Given the description of an element on the screen output the (x, y) to click on. 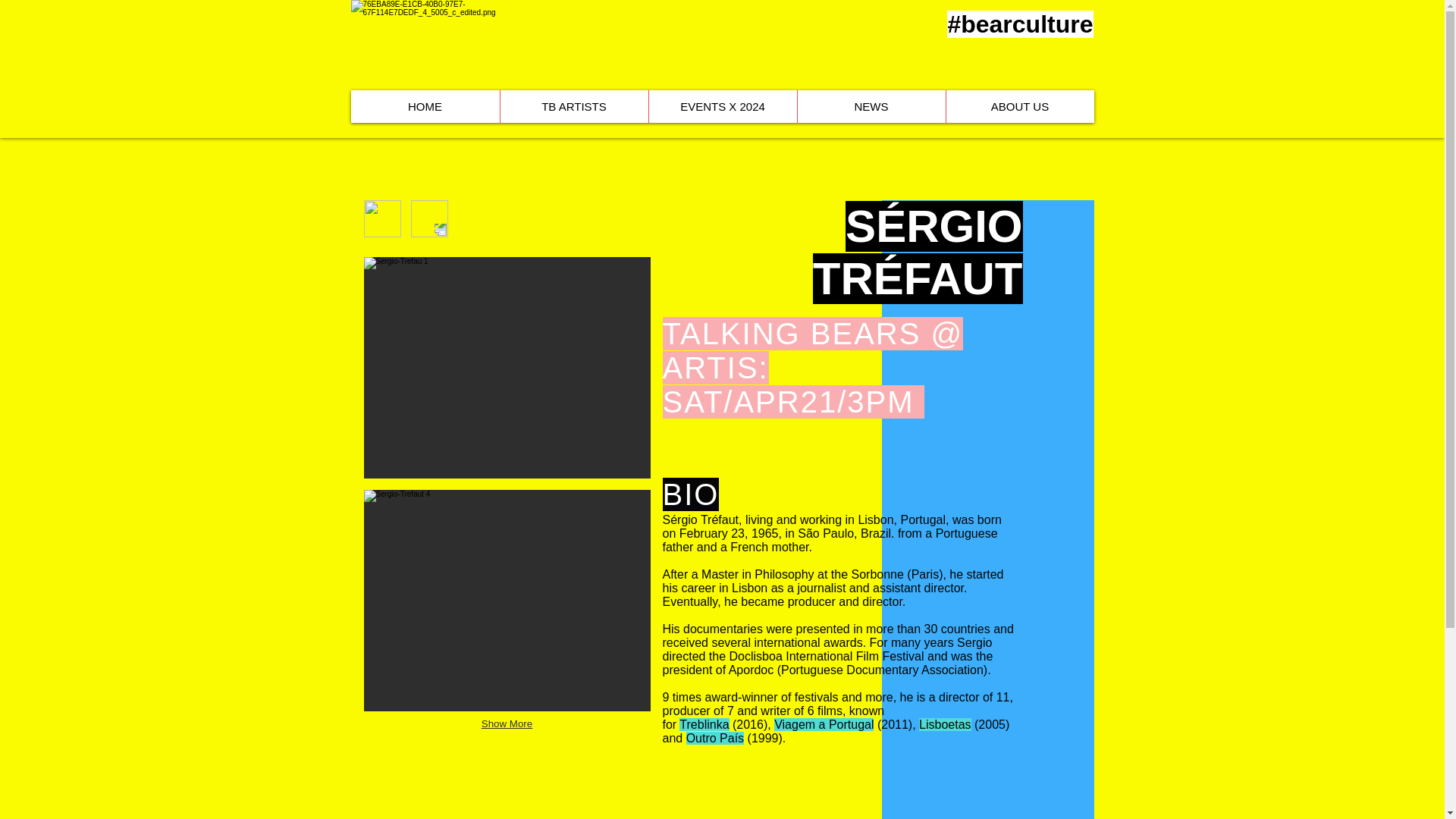
NEWS (870, 106)
Treblinka (704, 724)
Show More (507, 724)
TB ARTISTS (573, 106)
External Vimeo (505, 783)
ABOUT US (1018, 106)
Lisboetas (944, 724)
EVENTS X 2024 (721, 106)
TB (464, 45)
Viagem a Portugal (823, 724)
